Given the description of an element on the screen output the (x, y) to click on. 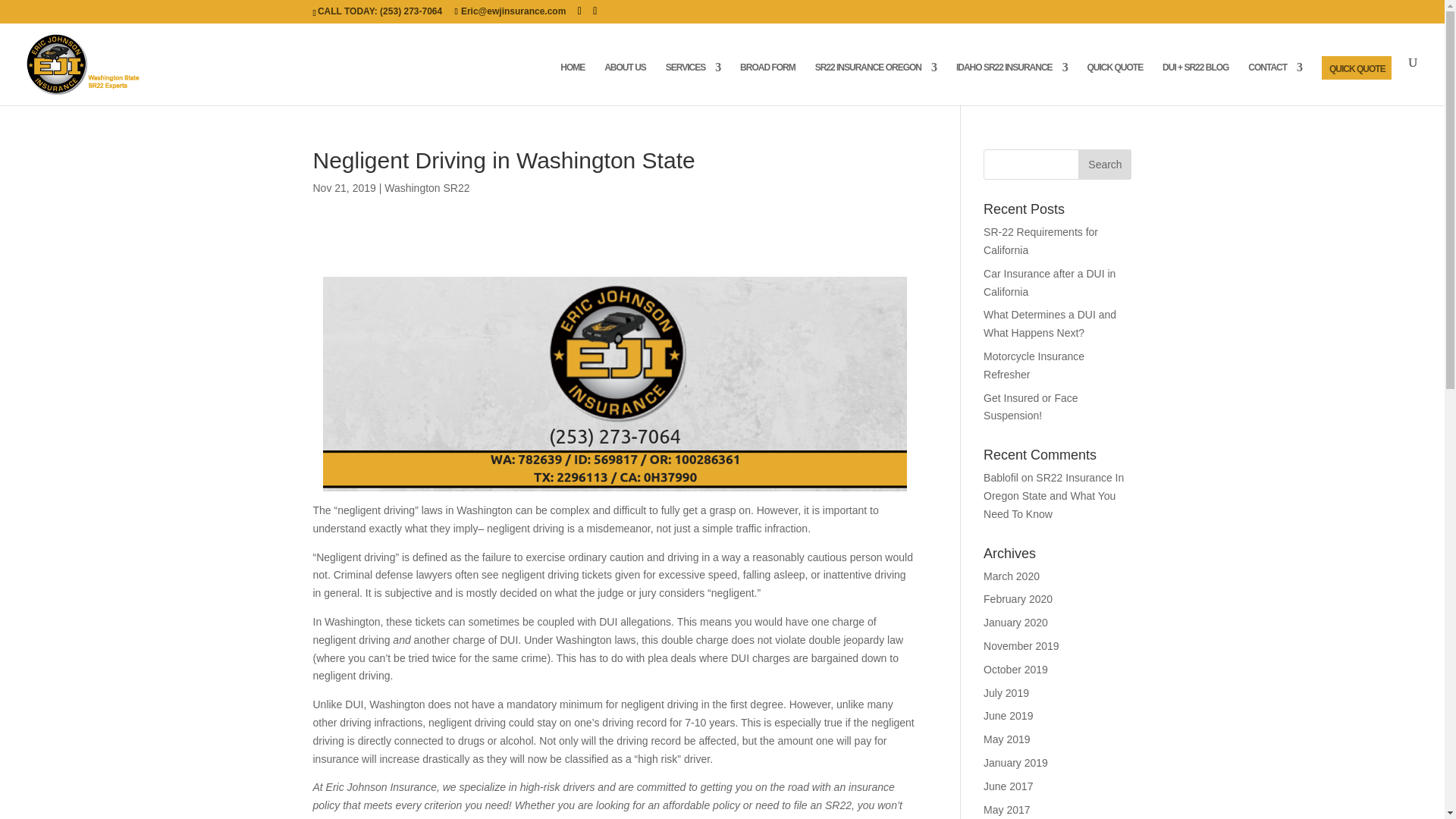
SERVICES (692, 83)
IDAHO SR22 INSURANCE (1011, 83)
QUICK QUOTE (1360, 85)
QUICK QUOTE (1114, 83)
ABOUT US (625, 83)
SR22 INSURANCE OREGON (875, 83)
CONTACT (1274, 83)
BROAD FORM (766, 83)
Search (1104, 164)
